Given the description of an element on the screen output the (x, y) to click on. 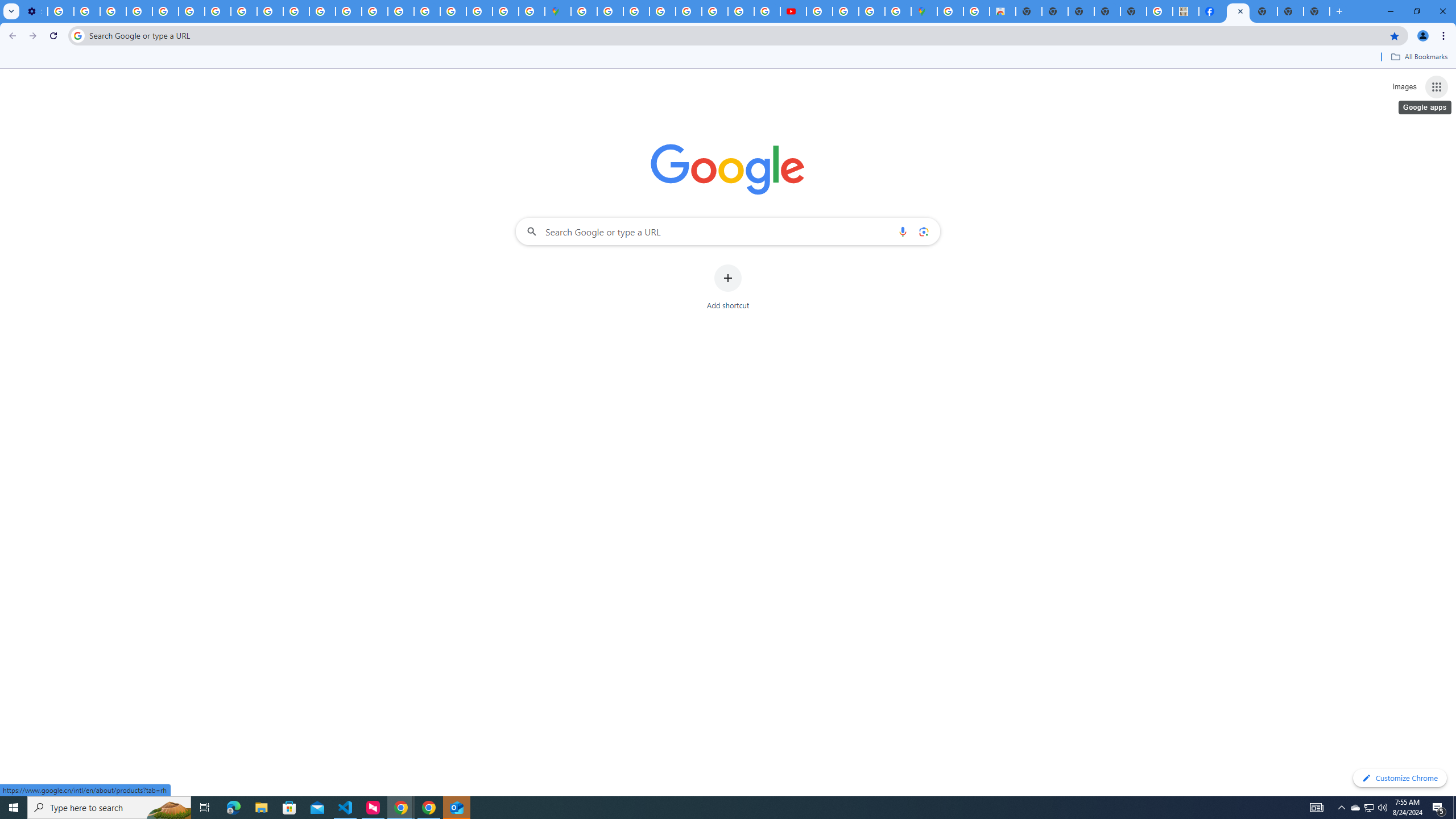
Privacy Checkup (296, 11)
Sign in - Google Accounts (610, 11)
Delete photos & videos - Computer - Google Photos Help (60, 11)
